Given the description of an element on the screen output the (x, y) to click on. 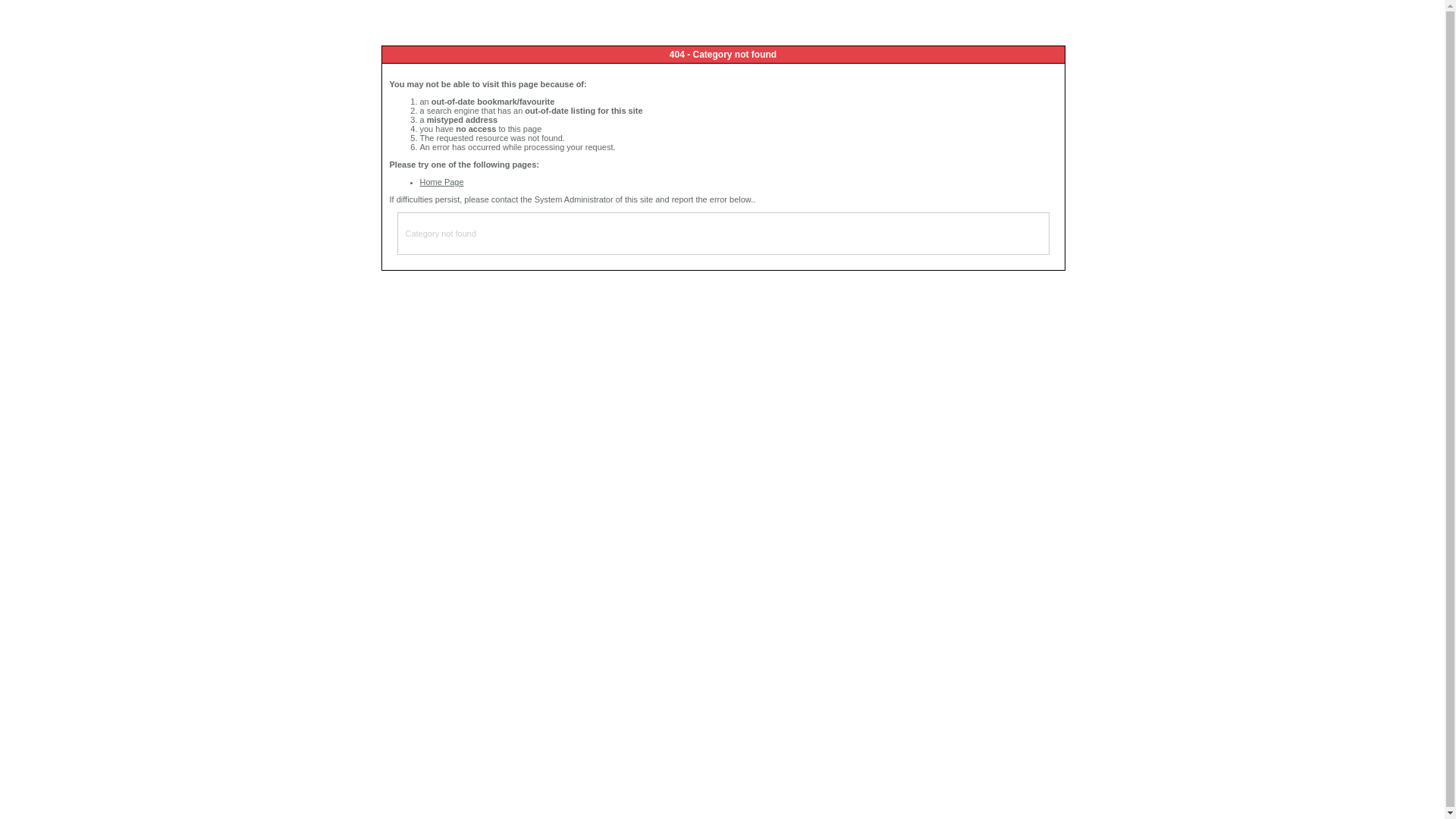
Home Page Element type: text (442, 181)
